Given the description of an element on the screen output the (x, y) to click on. 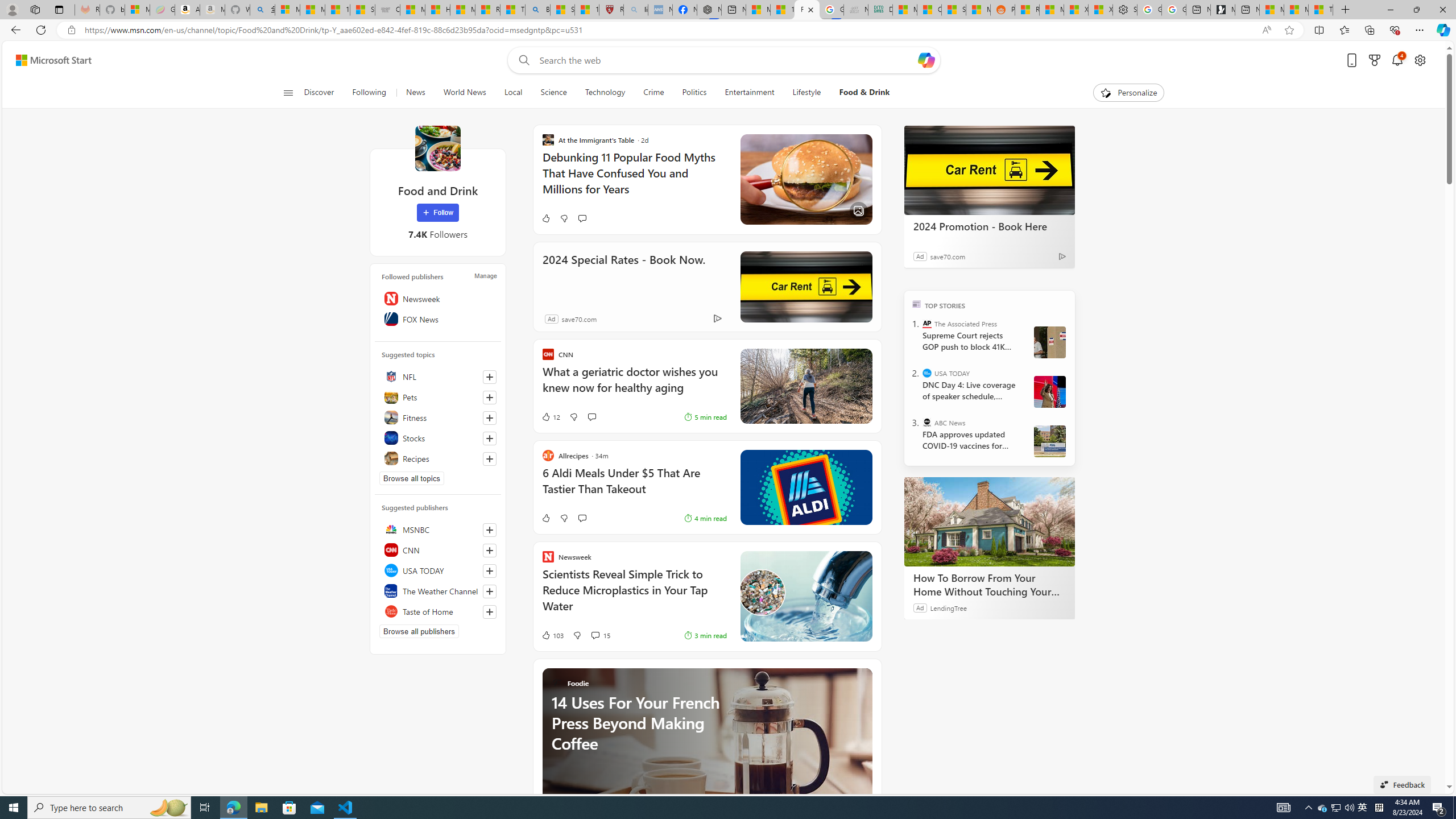
View comments 15 Comment (594, 634)
USA TODAY (927, 372)
Food and Drink (437, 148)
Newsweek (437, 298)
Follow this topic (489, 458)
